Given the description of an element on the screen output the (x, y) to click on. 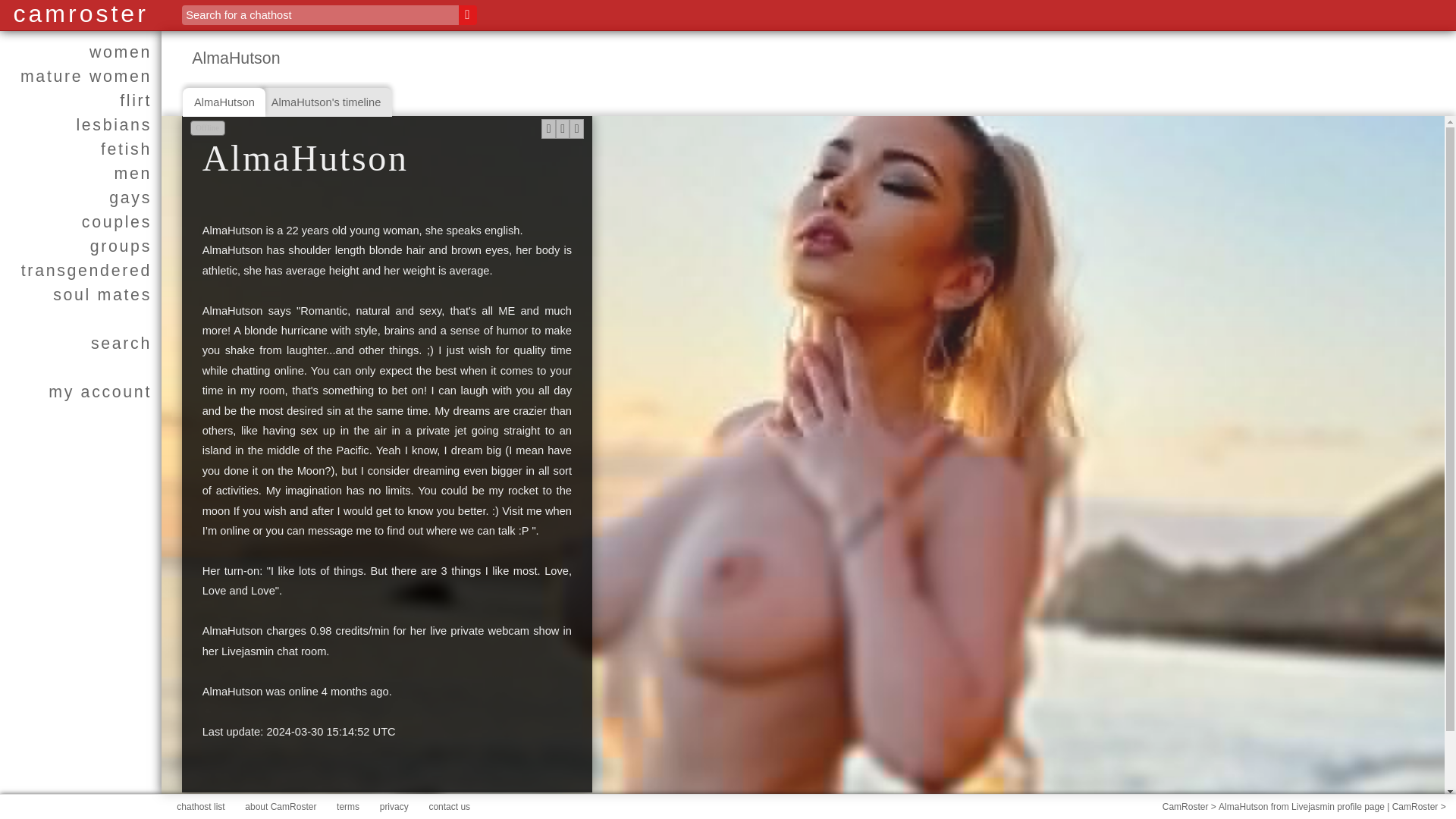
flirt (80, 100)
Gays (80, 197)
lesbians (80, 125)
gays (80, 197)
Your account (80, 392)
Fetishist (80, 149)
privacy (394, 806)
soul mates (80, 294)
search (80, 343)
CamRoster (1184, 806)
Lesbians (80, 125)
my account (80, 392)
Romantic chathosts (80, 100)
Women (80, 52)
fetish (80, 149)
